Given the description of an element on the screen output the (x, y) to click on. 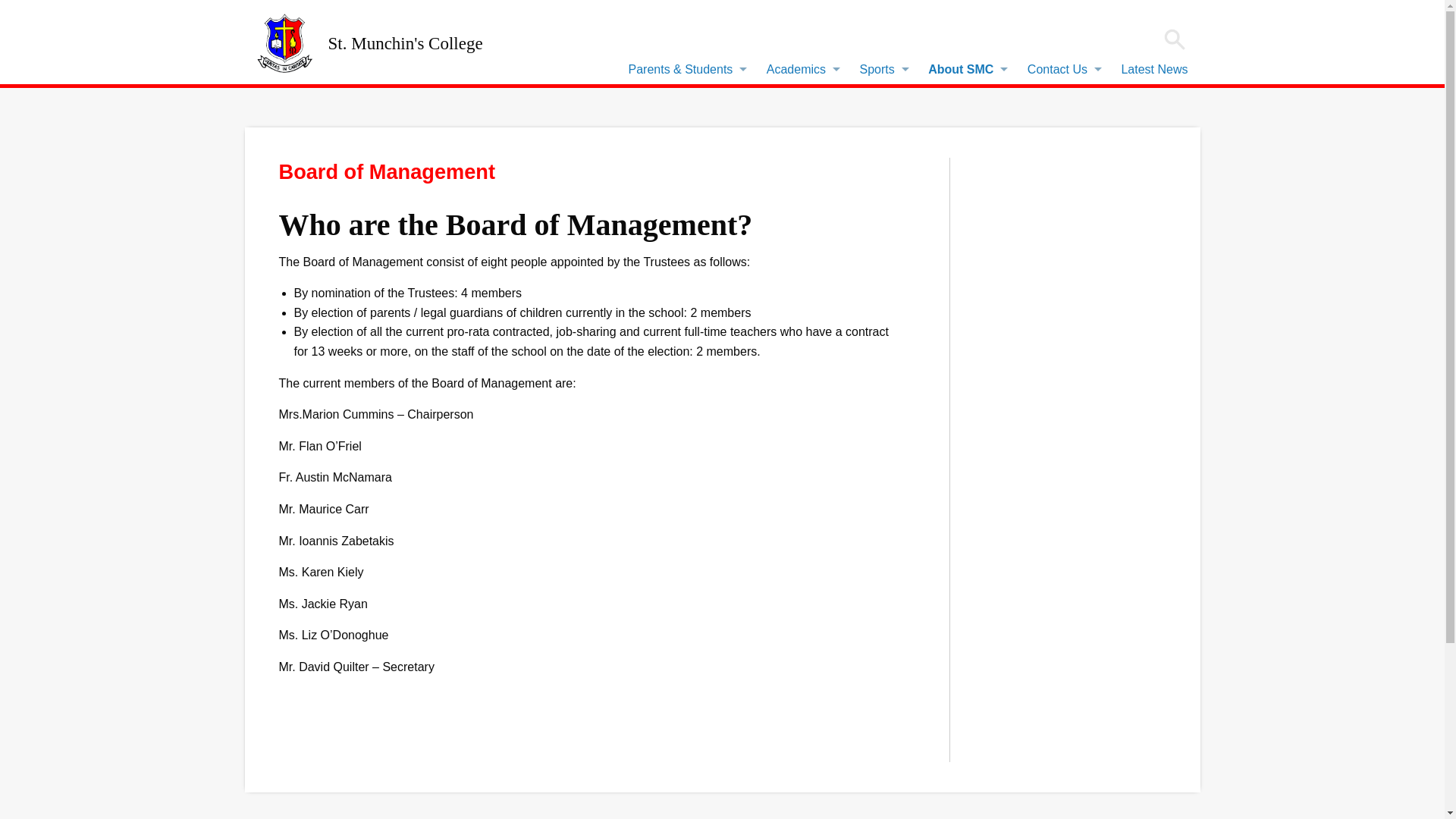
Search efter: (1174, 39)
